Given the description of an element on the screen output the (x, y) to click on. 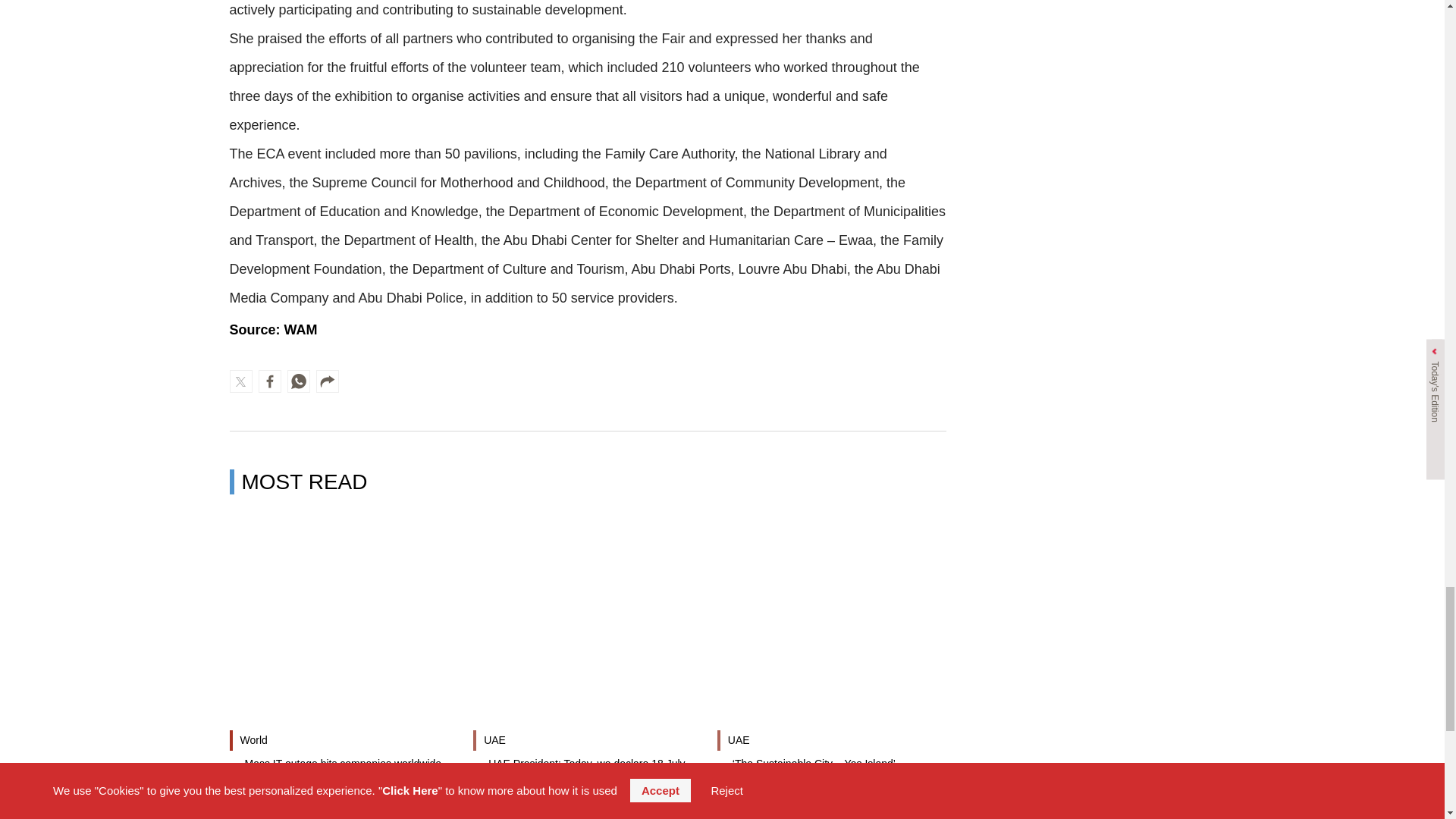
UAE President: Today, we declare 18 July as Union Pledge Day (587, 771)
Mass IT outage hits companies worldwide as planes grounded (343, 771)
